Given the description of an element on the screen output the (x, y) to click on. 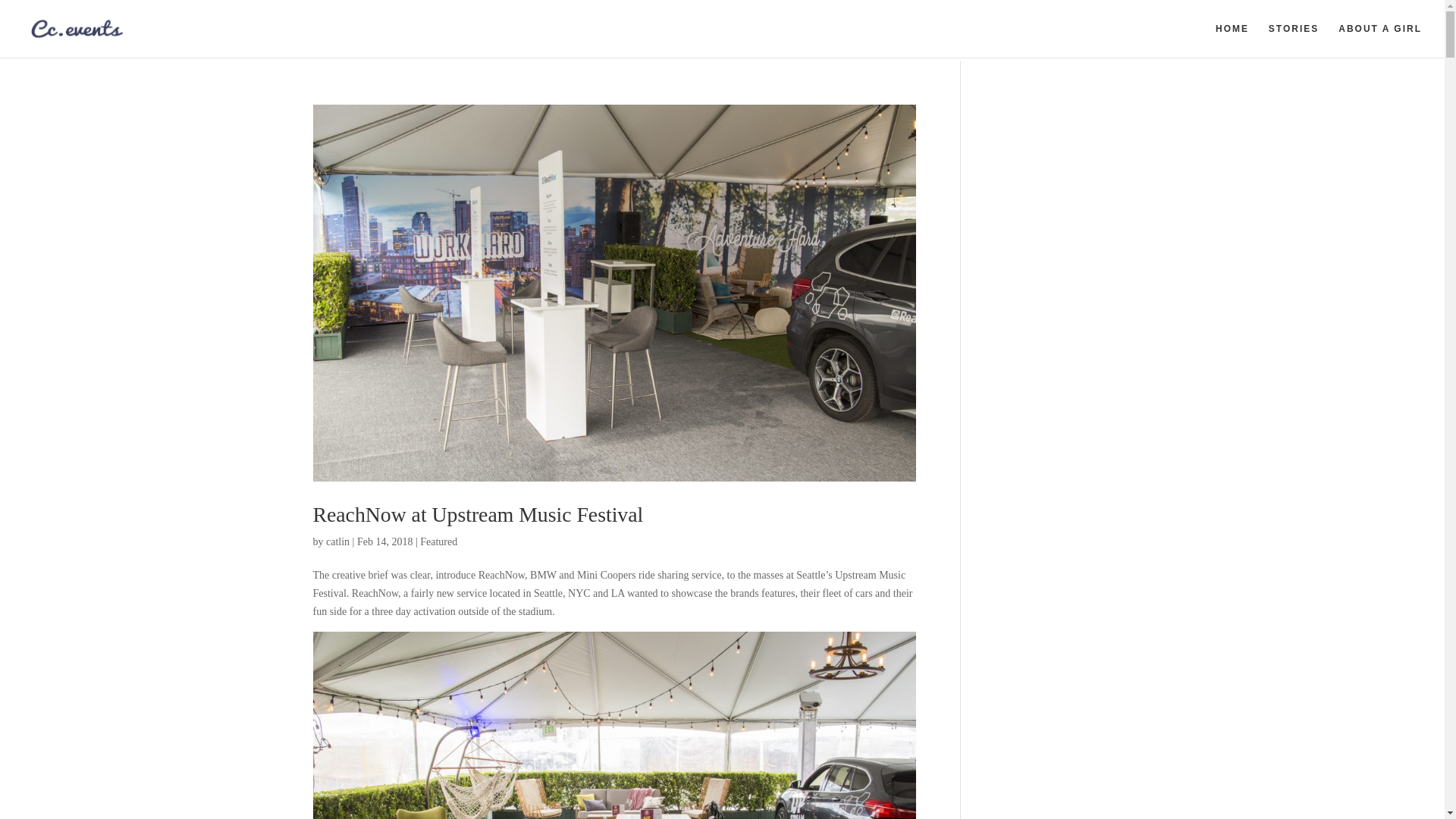
HOME (1232, 40)
ABOUT A GIRL (1380, 40)
ReachNow at Upstream Music Festival (478, 514)
Featured (438, 541)
Posts by catlin (337, 541)
catlin (337, 541)
STORIES (1293, 40)
